Given the description of an element on the screen output the (x, y) to click on. 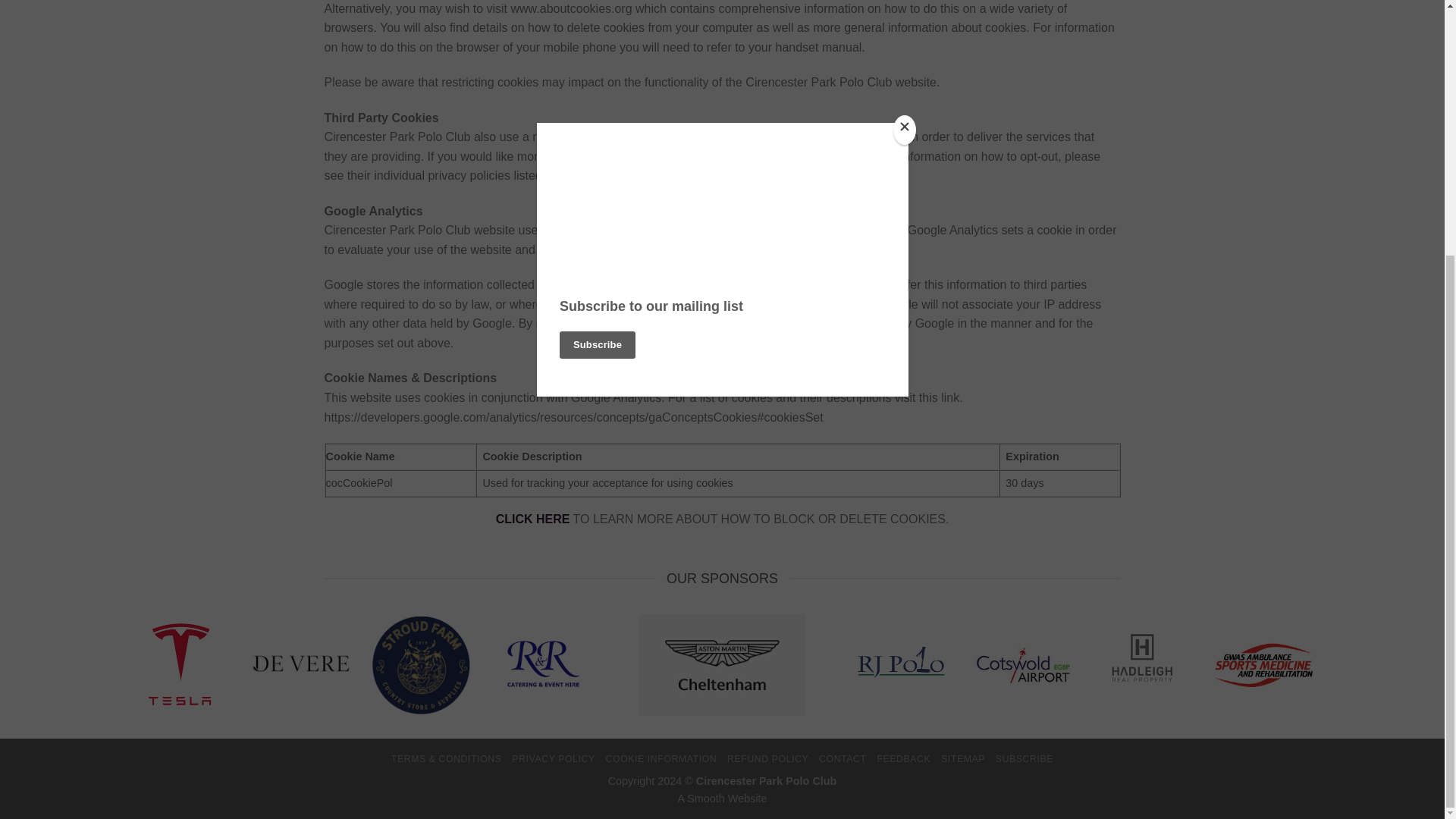
rjpolologo (902, 665)
